Given the description of an element on the screen output the (x, y) to click on. 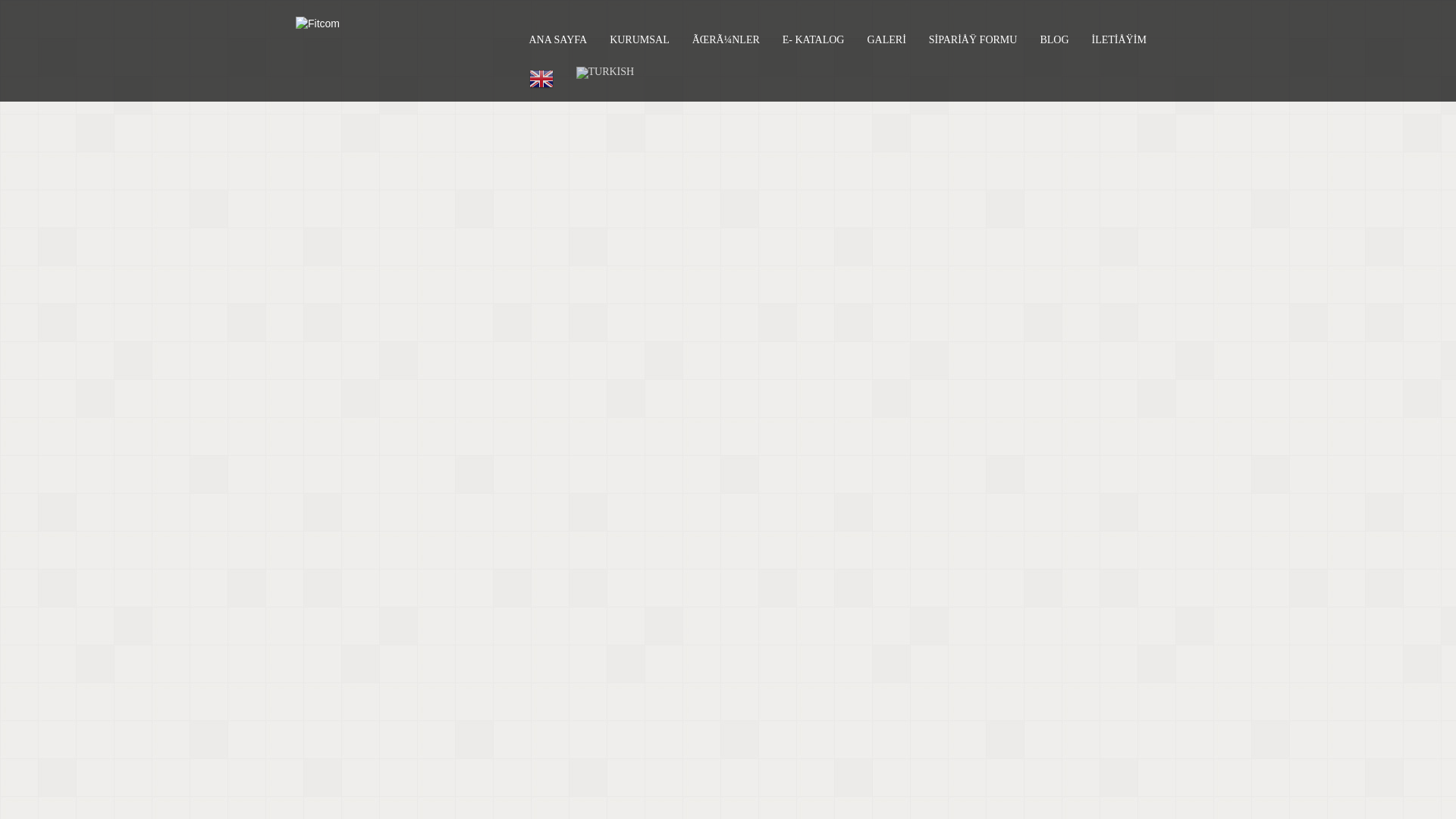
GALERI (885, 40)
E- KATALOG (813, 40)
BLOG (1053, 40)
KURUMSAL (639, 40)
ANA SAYFA (558, 40)
Turkish (605, 72)
